Given the description of an element on the screen output the (x, y) to click on. 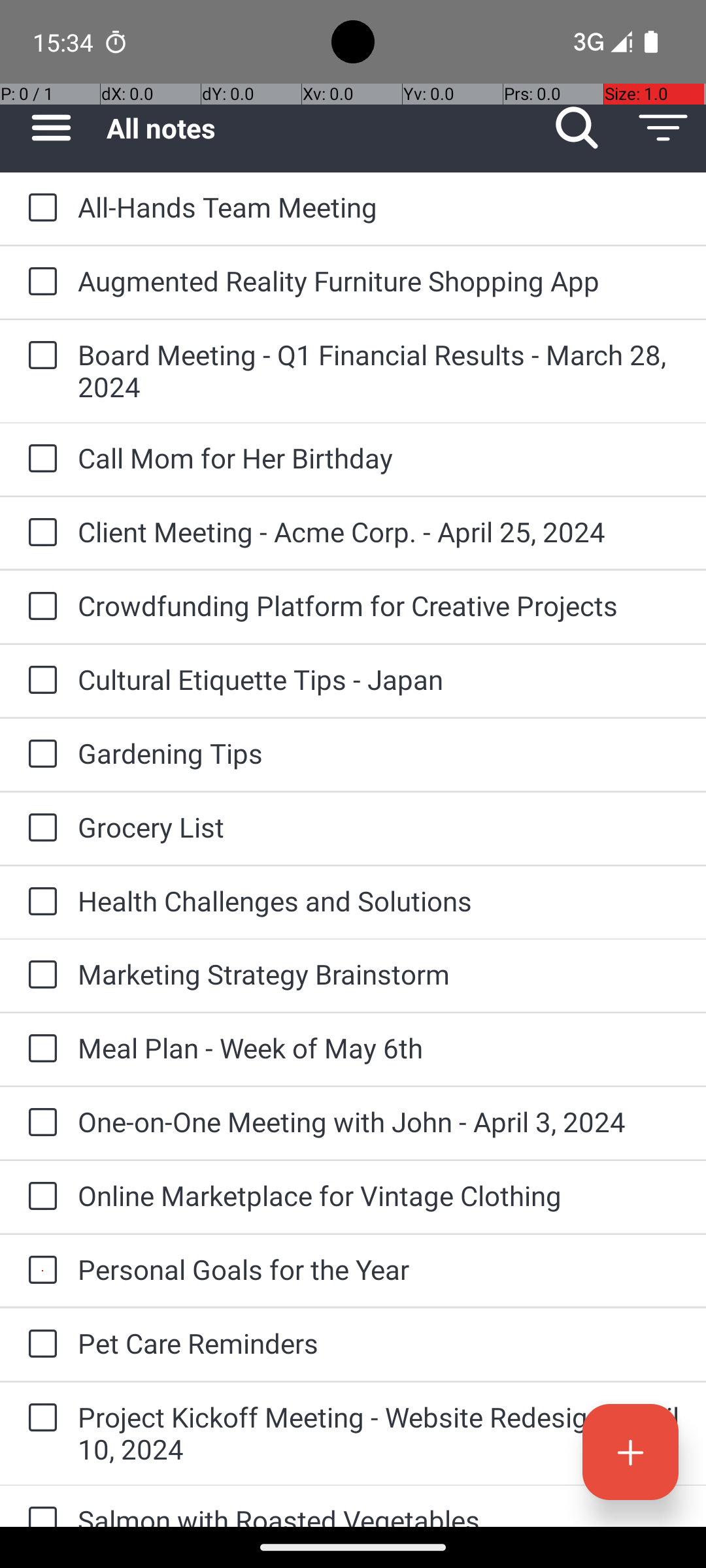
to-do: All-Hands Team Meeting Element type: android.widget.CheckBox (38, 208)
to-do: Augmented Reality Furniture Shopping App Element type: android.widget.CheckBox (38, 282)
Augmented Reality Furniture Shopping App Element type: android.widget.TextView (378, 280)
to-do: Board Meeting - Q1 Financial Results - March 28, 2024 Element type: android.widget.CheckBox (38, 356)
to-do: Call Mom for Her Birthday Element type: android.widget.CheckBox (38, 459)
Call Mom for Her Birthday Element type: android.widget.TextView (378, 457)
to-do: Crowdfunding Platform for Creative Projects Element type: android.widget.CheckBox (38, 606)
Crowdfunding Platform for Creative Projects Element type: android.widget.TextView (378, 604)
to-do: Cultural Etiquette Tips - Japan Element type: android.widget.CheckBox (38, 680)
Cultural Etiquette Tips - Japan Element type: android.widget.TextView (378, 678)
to-do: Gardening Tips Element type: android.widget.CheckBox (38, 754)
Gardening Tips Element type: android.widget.TextView (378, 752)
to-do: Health Challenges and Solutions Element type: android.widget.CheckBox (38, 902)
Health Challenges and Solutions Element type: android.widget.TextView (378, 900)
to-do: Marketing Strategy Brainstorm Element type: android.widget.CheckBox (38, 975)
Marketing Strategy Brainstorm Element type: android.widget.TextView (378, 973)
to-do: Meal Plan - Week of May 6th Element type: android.widget.CheckBox (38, 1049)
Meal Plan - Week of May 6th Element type: android.widget.TextView (378, 1047)
to-do: One-on-One Meeting with John - April 3, 2024 Element type: android.widget.CheckBox (38, 1123)
One-on-One Meeting with John - April 3, 2024 Element type: android.widget.TextView (378, 1121)
to-do: Personal Goals for the Year Element type: android.widget.CheckBox (38, 1270)
Personal Goals for the Year Element type: android.widget.TextView (378, 1268)
to-do: Pet Care Reminders Element type: android.widget.CheckBox (38, 1344)
Pet Care Reminders Element type: android.widget.TextView (378, 1342)
to-do: Project Kickoff Meeting - Website Redesign - April 10, 2024 Element type: android.widget.CheckBox (38, 1418)
Project Kickoff Meeting - Website Redesign - April 10, 2024 Element type: android.widget.TextView (378, 1432)
to-do: Salmon with Roasted Vegetables Element type: android.widget.CheckBox (38, 1505)
Salmon with Roasted Vegetables Element type: android.widget.TextView (378, 1513)
